Given the description of an element on the screen output the (x, y) to click on. 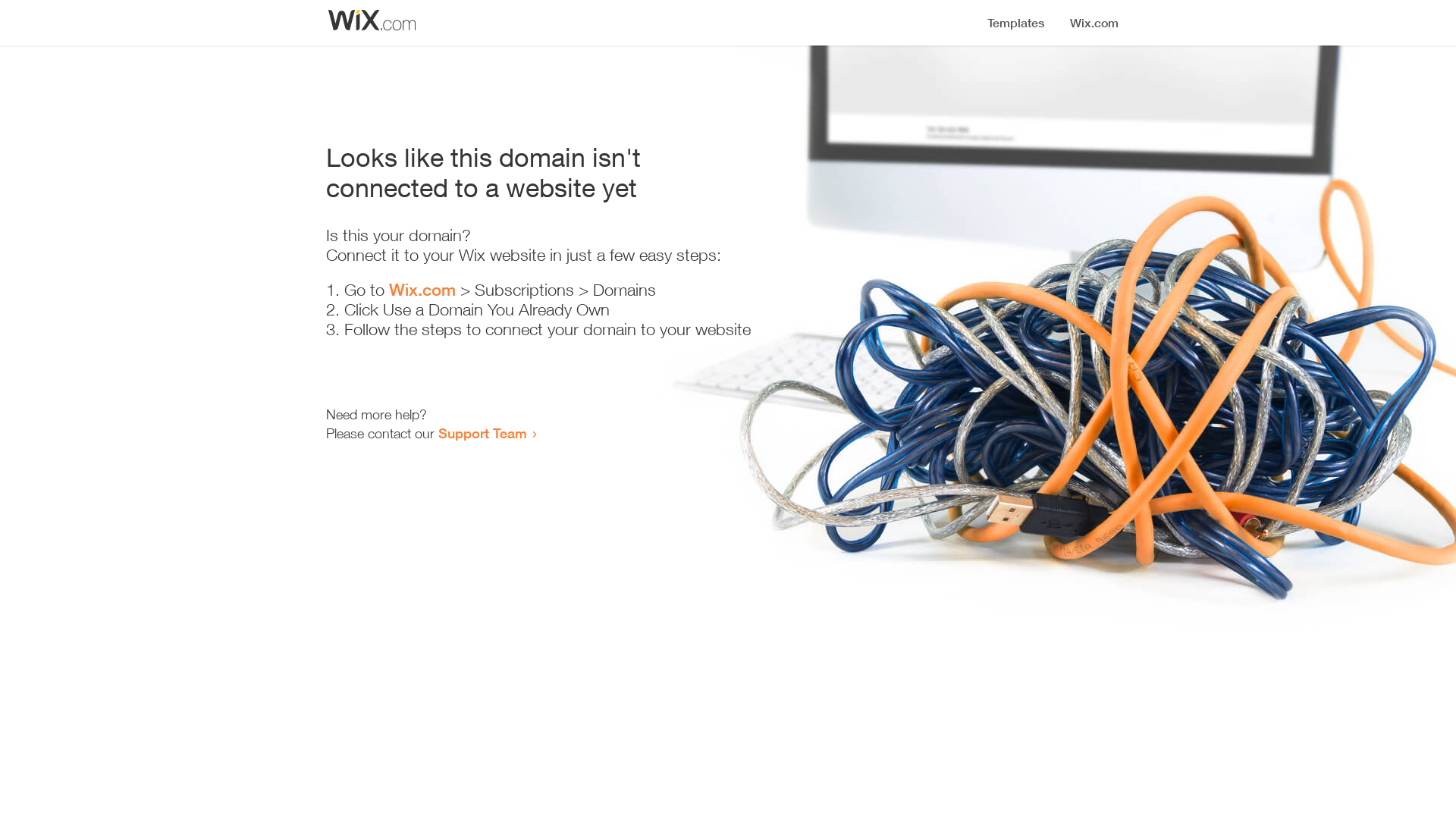
Support Team Element type: text (482, 432)
Wix.com Element type: text (422, 289)
